Given the description of an element on the screen output the (x, y) to click on. 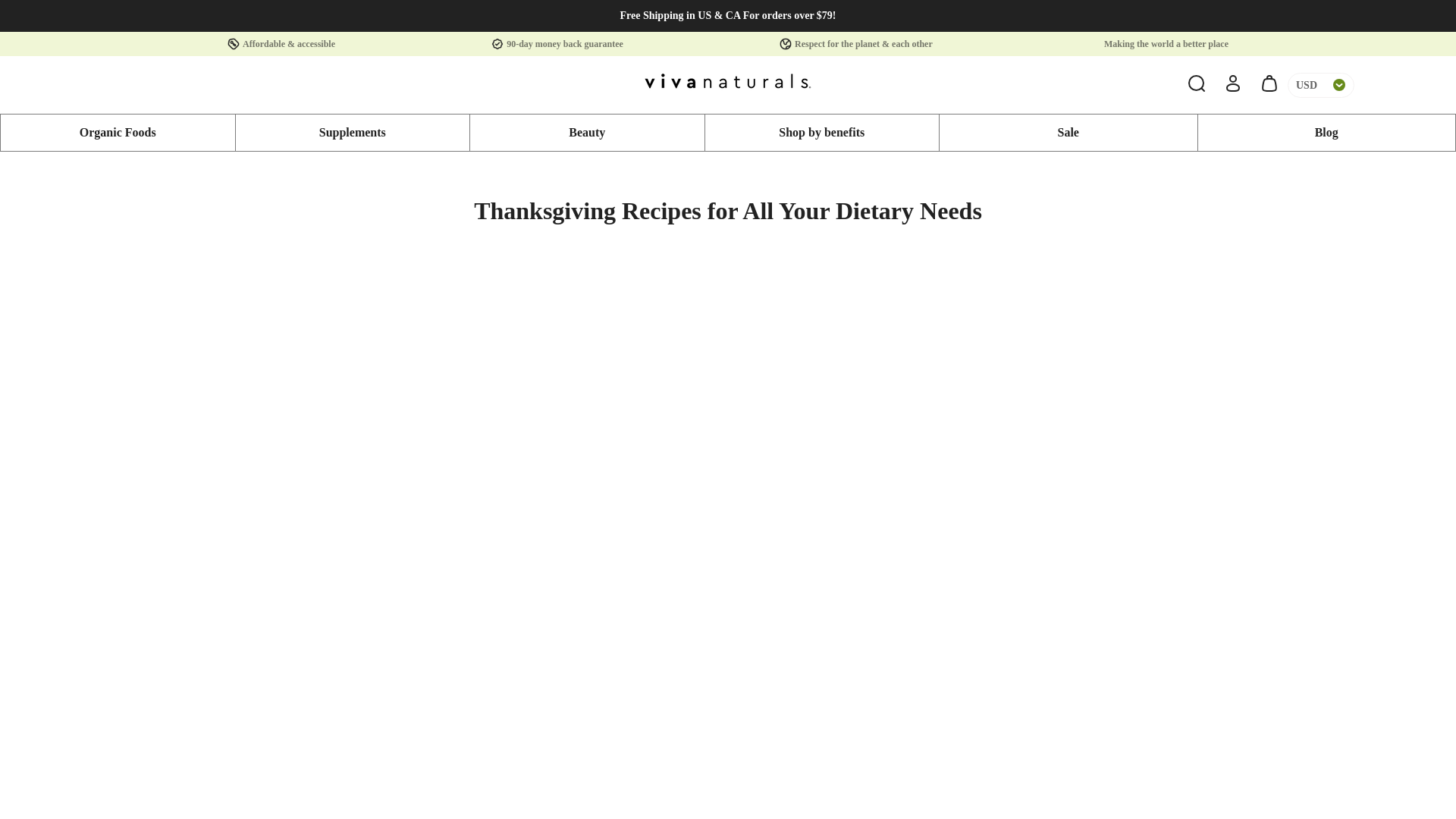
homepage (727, 84)
Beauty (587, 132)
Organic Foods (118, 132)
Supplements (352, 132)
